Given the description of an element on the screen output the (x, y) to click on. 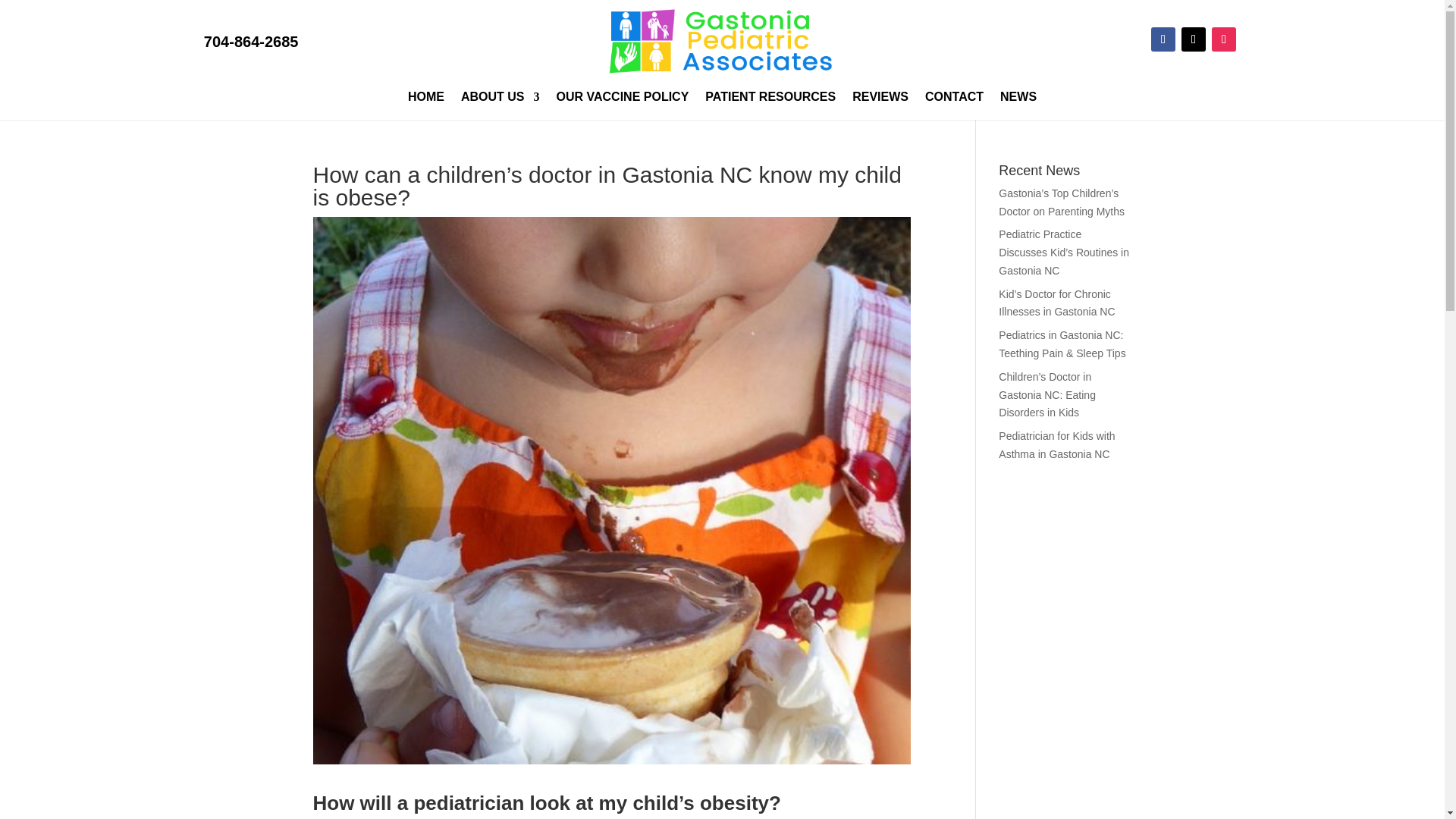
ABOUT US (500, 99)
Follow on Facebook (1162, 39)
OUR VACCINE POLICY (622, 99)
NEWS (1018, 99)
Follow on Instagram (1223, 39)
Follow on X (1192, 39)
HOME (425, 99)
gastonia ped logo (721, 42)
Pediatrician for Kids with Asthma in Gastonia NC (1056, 444)
704-864-2685 (250, 41)
CONTACT (954, 99)
PATIENT RESOURCES (769, 99)
REVIEWS (879, 99)
